Given the description of an element on the screen output the (x, y) to click on. 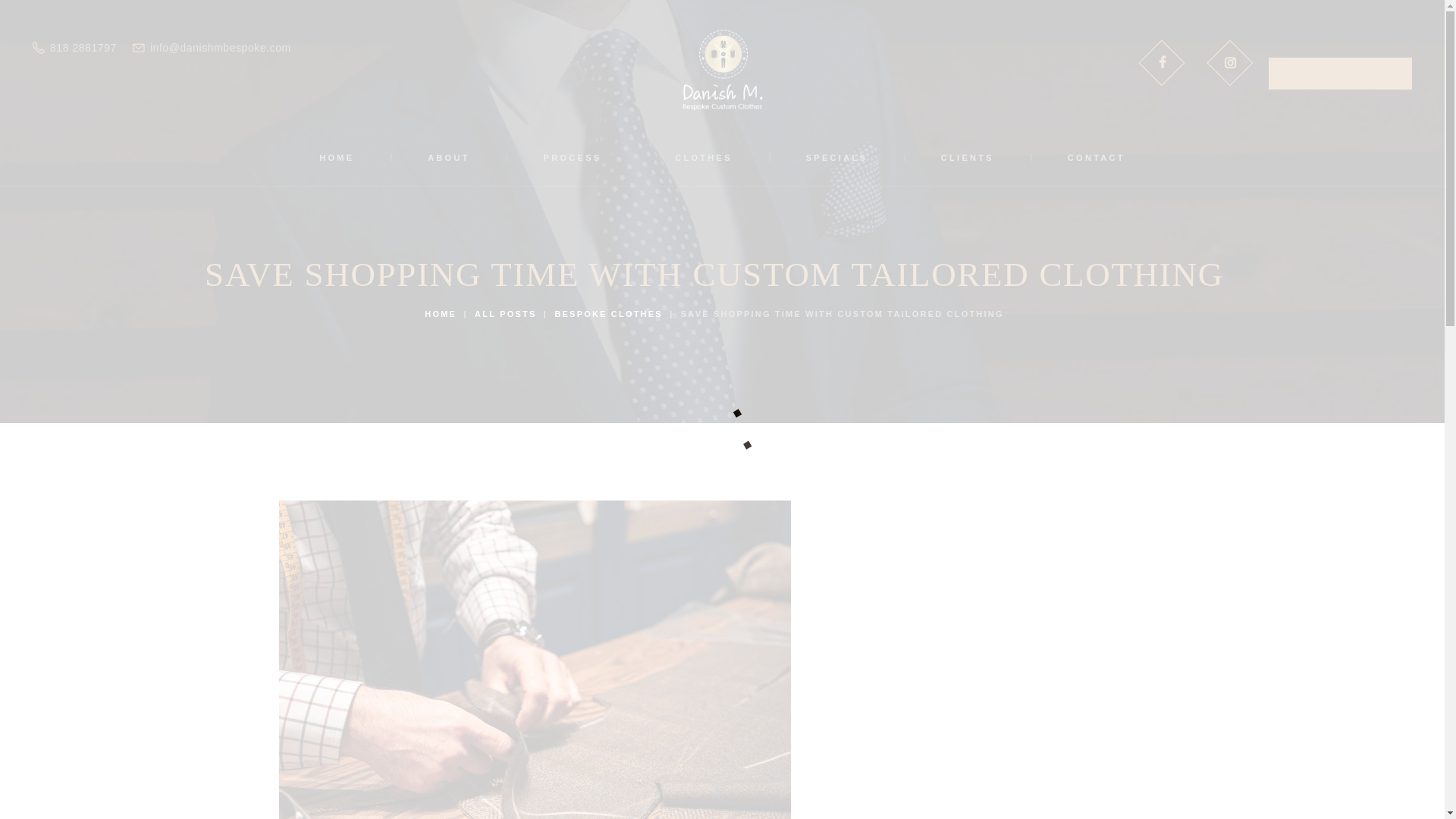
BESPOKE CLOTHES (608, 314)
PROCESS (572, 157)
CLIENTS (967, 157)
HOME (441, 314)
SPECIALS (836, 157)
CONTACT (1095, 157)
ABOUT (448, 157)
DOWNLOAD BROCHURE (1340, 73)
HOME (336, 157)
ALL POSTS (504, 313)
CLOTHES (703, 157)
818 2881797 (74, 48)
